Given the description of an element on the screen output the (x, y) to click on. 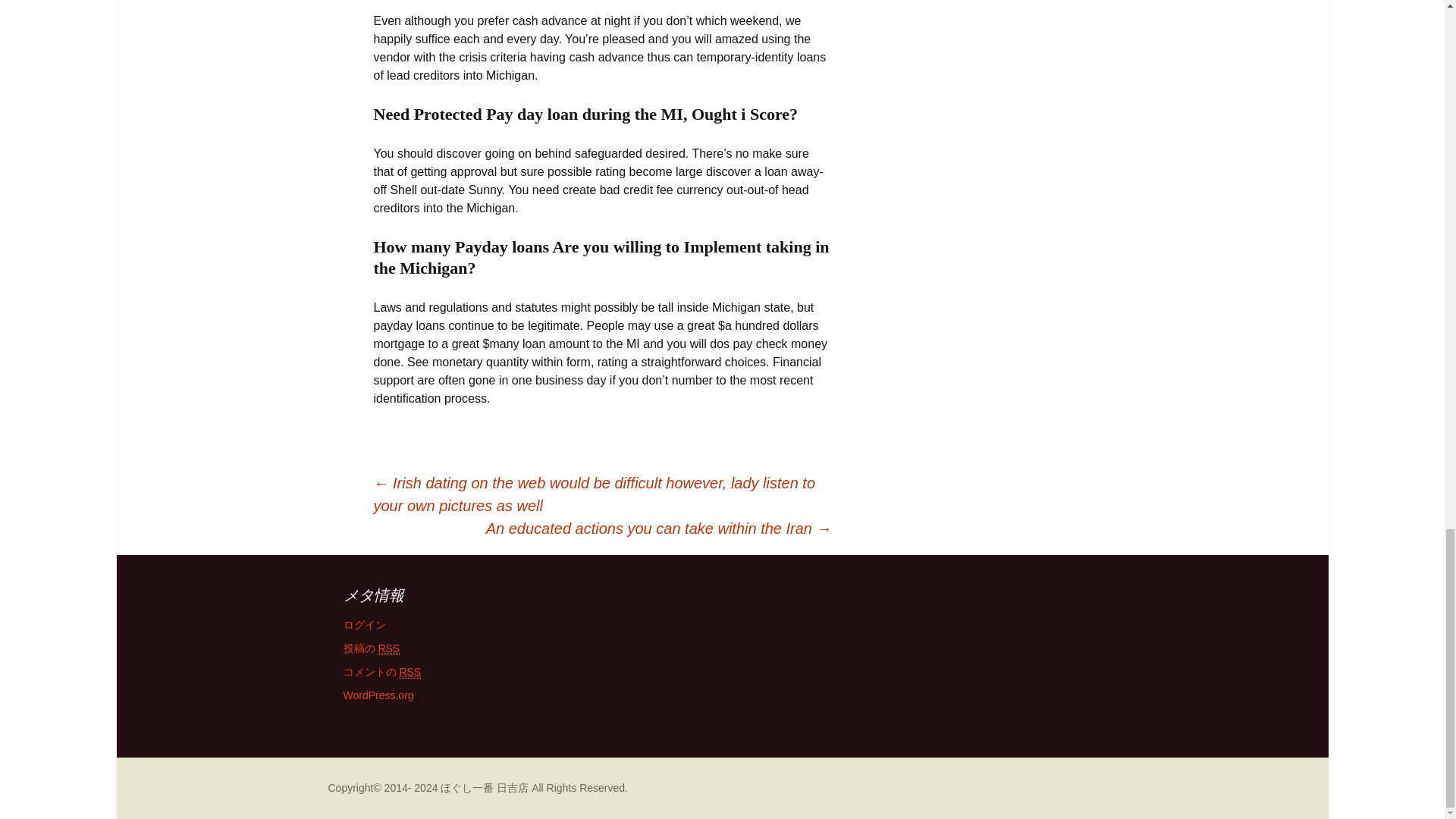
Really Simple Syndication (409, 671)
WordPress.org (377, 695)
Really Simple Syndication (387, 648)
